Given the description of an element on the screen output the (x, y) to click on. 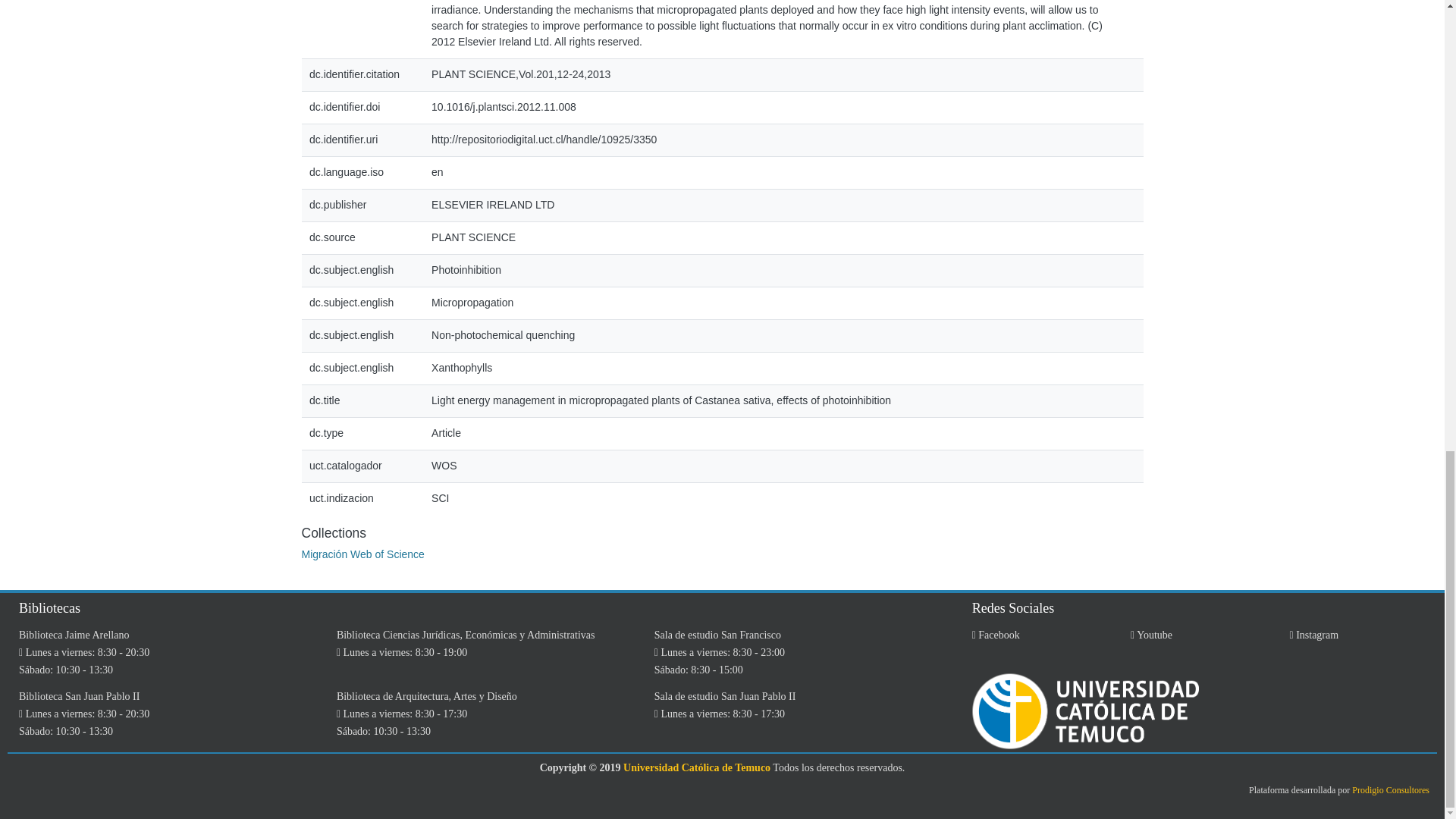
Prodigio Consultores (1390, 789)
Instagram (1314, 634)
Youtube (1151, 634)
Facebook (996, 634)
